Given the description of an element on the screen output the (x, y) to click on. 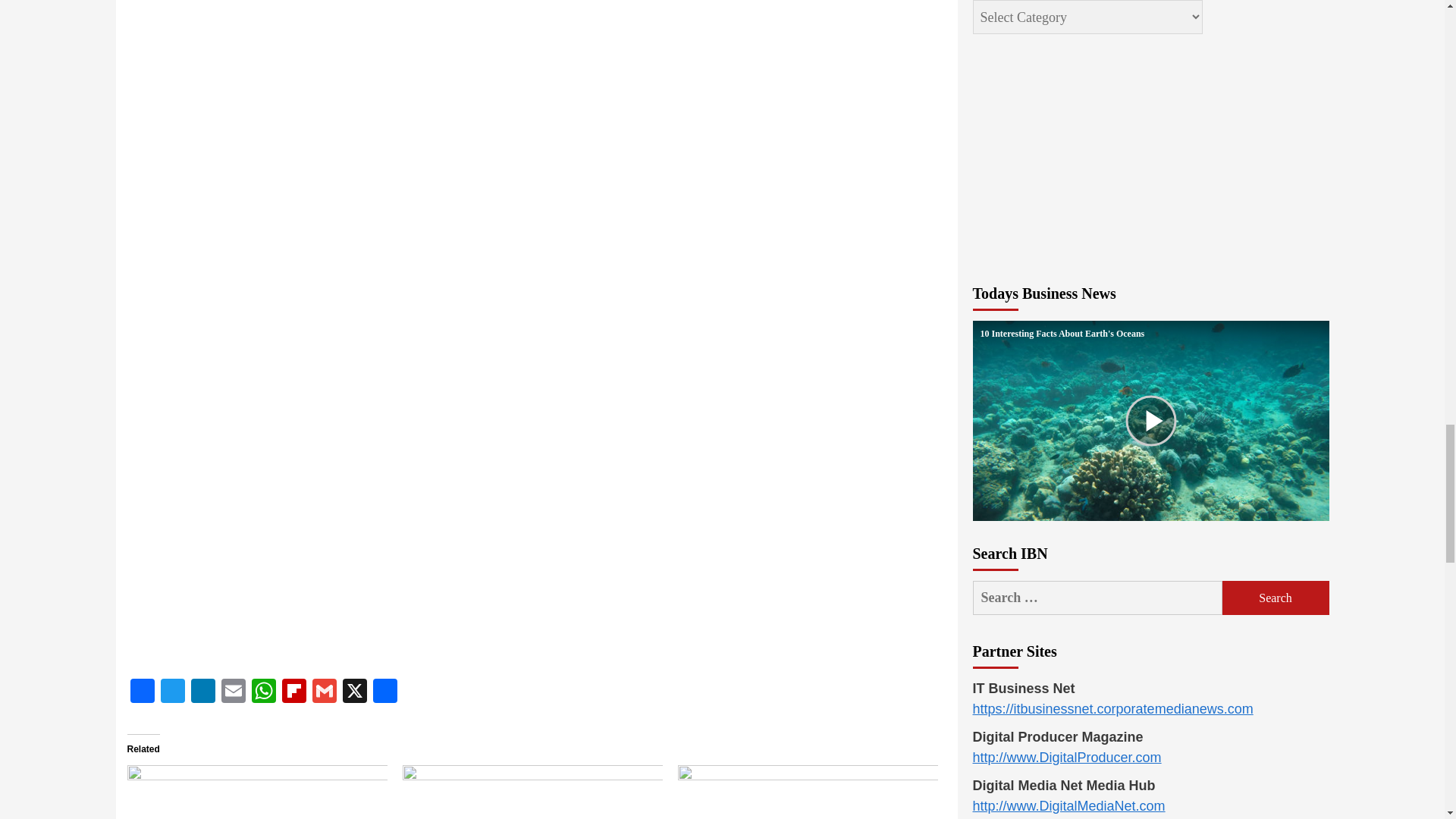
LinkedIn (202, 692)
WhatsApp (263, 692)
Facebook (142, 692)
Gmail (323, 692)
Email (233, 692)
Facebook (142, 692)
X (354, 692)
Twitter (172, 692)
Twitter (172, 692)
Flipboard (293, 692)
